Given the description of an element on the screen output the (x, y) to click on. 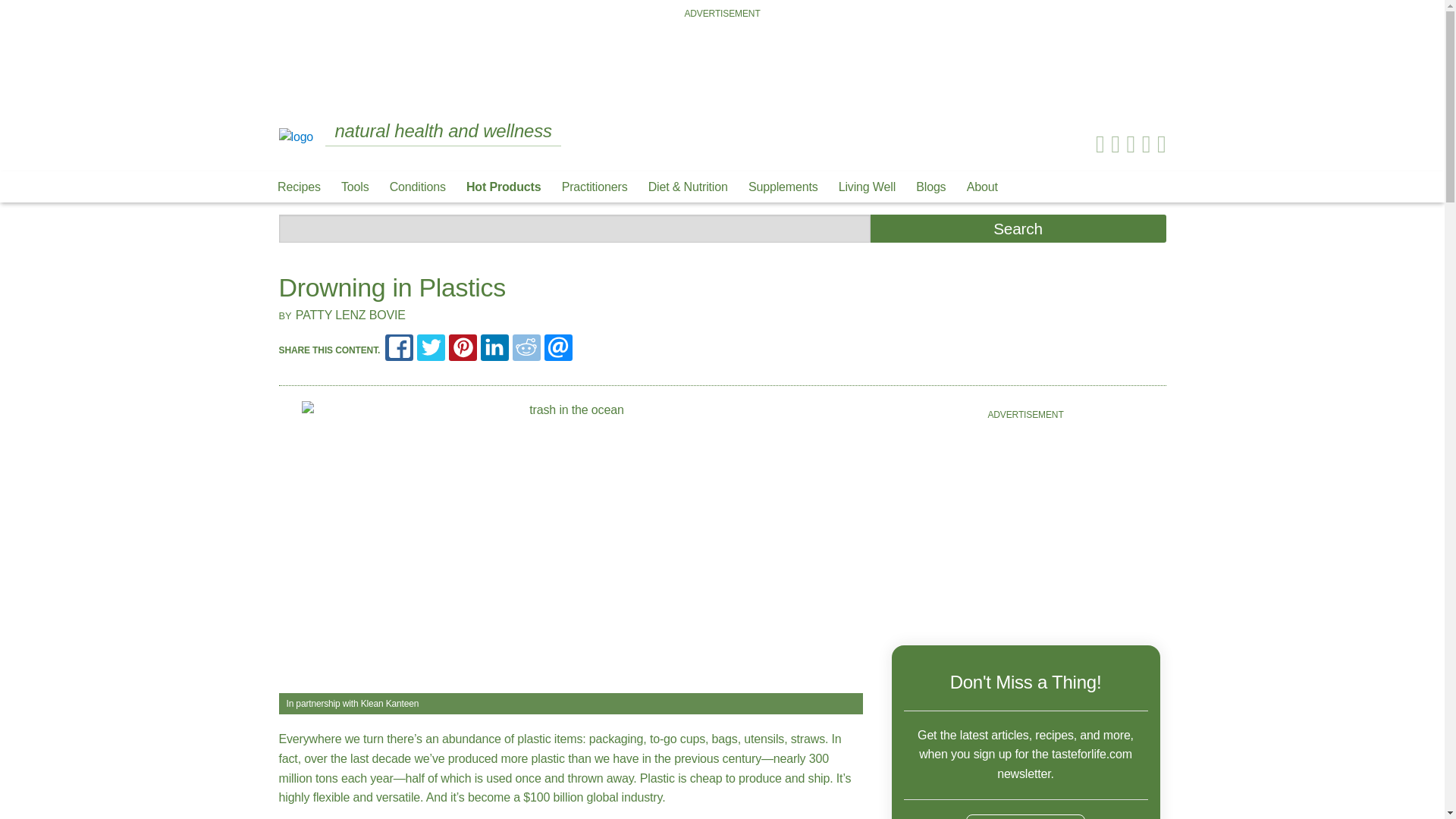
 Home (296, 136)
Enter the terms you wish to search for. (574, 228)
 Home (296, 135)
